Given the description of an element on the screen output the (x, y) to click on. 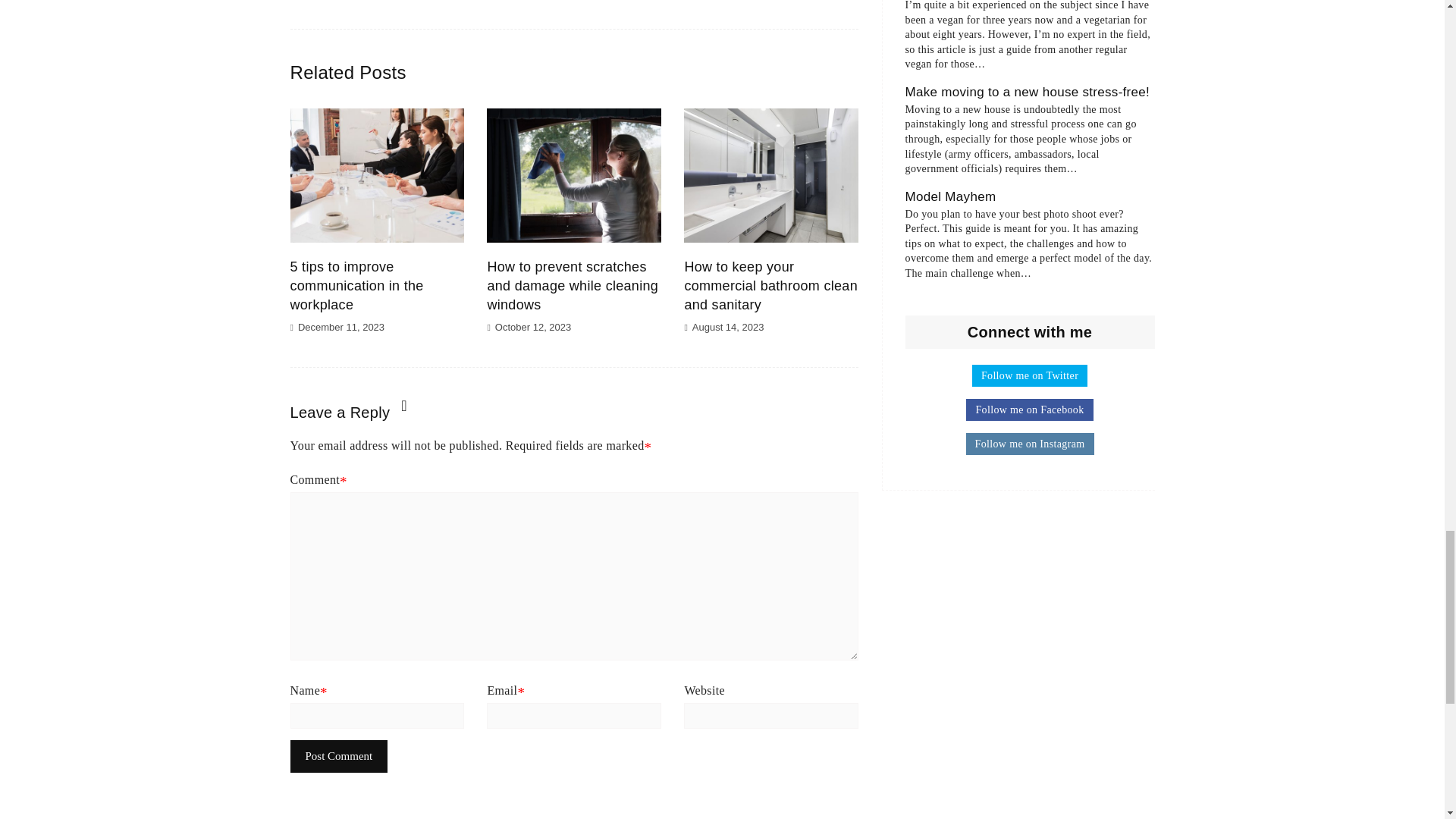
How to keep your commercial bathroom clean and sanitary (770, 285)
How to prevent scratches and damage while cleaning windows (572, 285)
Post Comment (338, 756)
5 tips to improve communication in the workplace (356, 285)
